Given the description of an element on the screen output the (x, y) to click on. 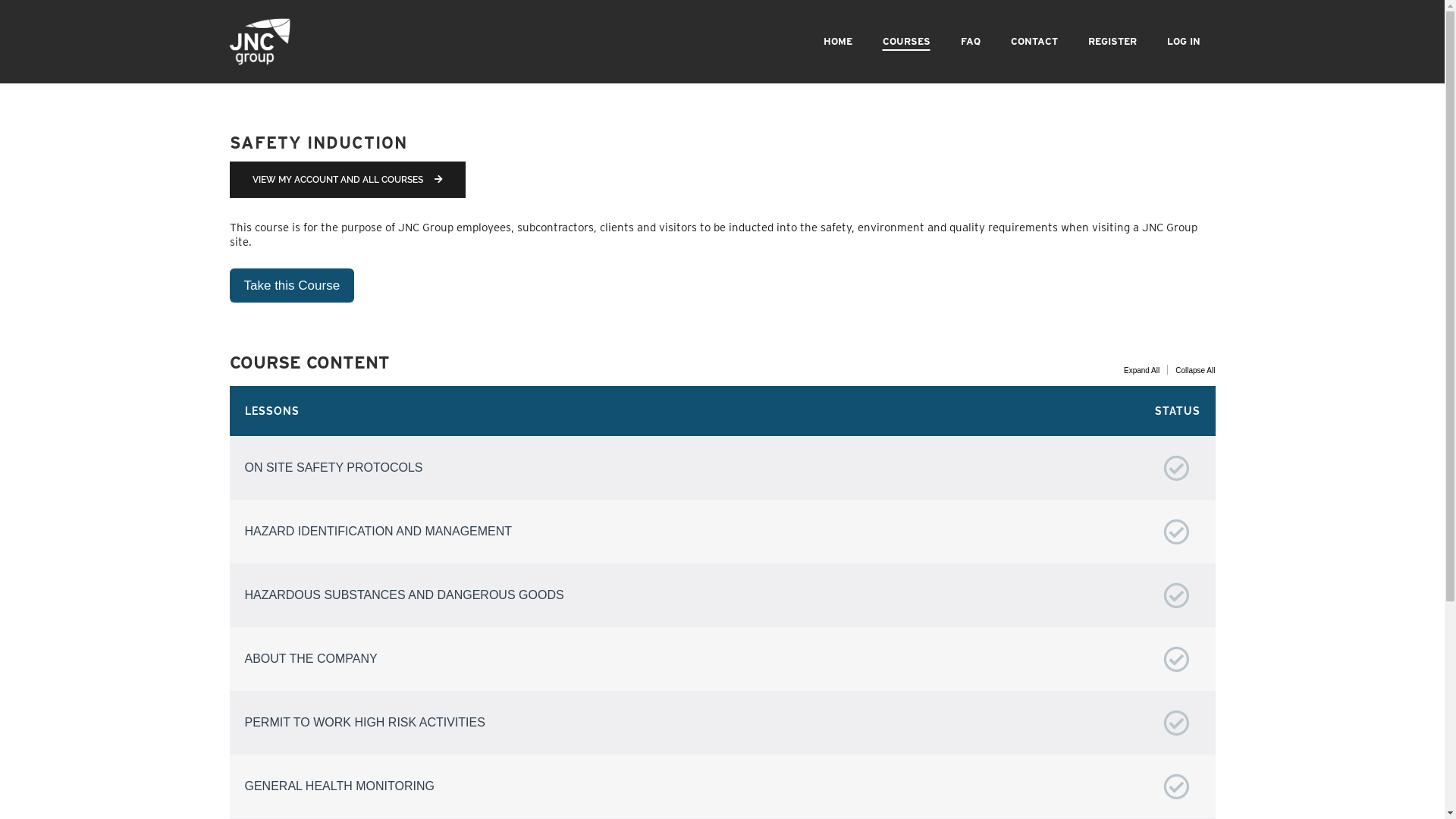
HAZARD IDENTIFICATION AND MANAGEMENT Element type: text (721, 531)
FAQ Element type: text (969, 41)
COURSES Element type: text (906, 41)
GENERAL HEALTH MONITORING Element type: text (721, 786)
HOME Element type: text (837, 41)
ON SITE SAFETY PROTOCOLS Element type: text (721, 467)
VIEW MY ACCOUNT AND ALL COURSES Element type: text (346, 179)
REGISTER Element type: text (1111, 41)
LOG IN Element type: text (1182, 41)
Take this Course Element type: text (291, 285)
CONTACT Element type: text (1033, 41)
Collapse All Element type: text (1192, 370)
PERMIT TO WORK HIGH RISK ACTIVITIES Element type: text (721, 722)
Expand All Element type: text (1143, 370)
HAZARDOUS SUBSTANCES AND DANGEROUS GOODS Element type: text (721, 594)
ABOUT THE COMPANY Element type: text (721, 658)
